Given the description of an element on the screen output the (x, y) to click on. 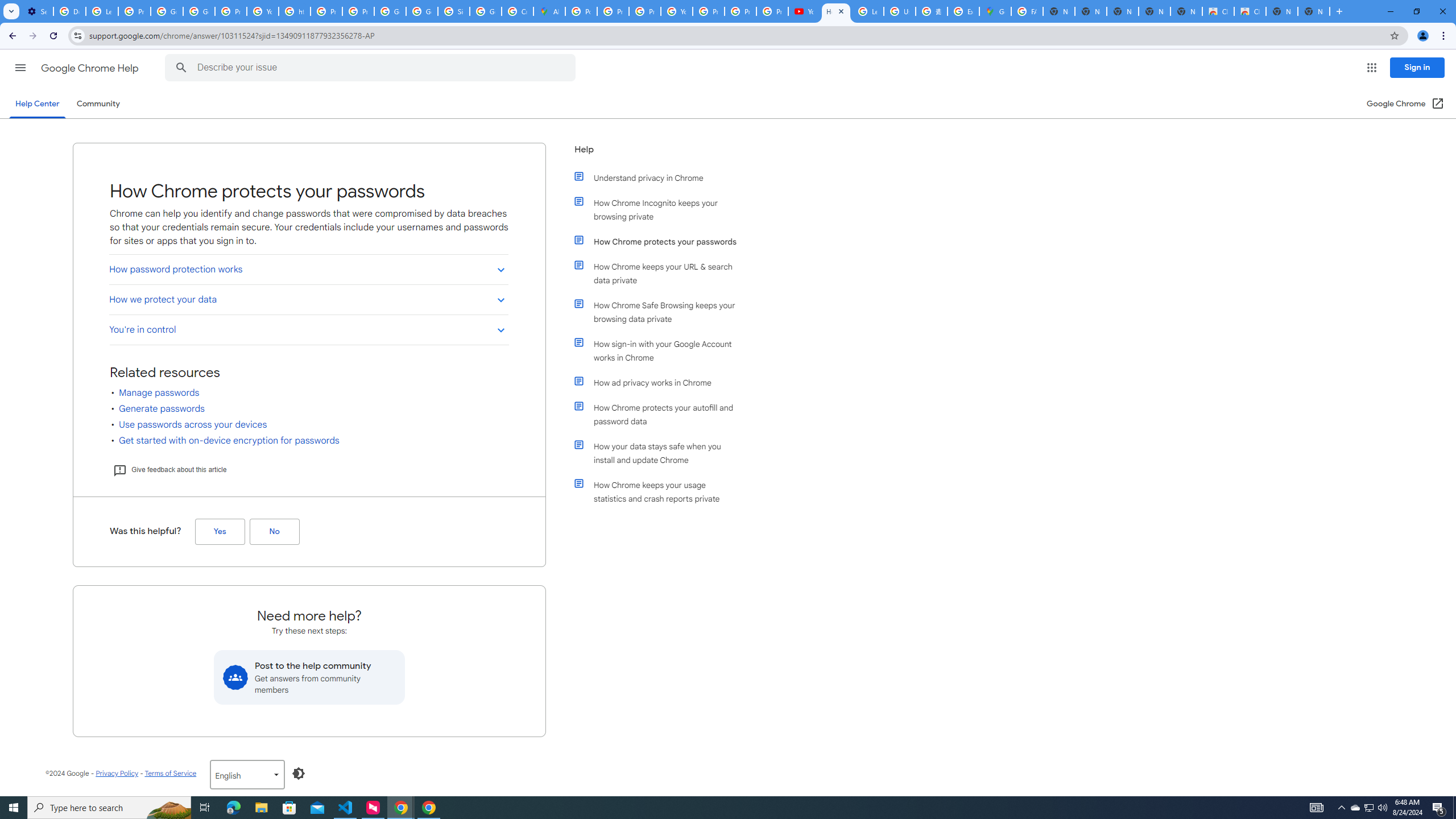
How Chrome protects your passwords (661, 241)
No (Was this helpful?) (273, 531)
How Chrome protects your autofill and password data (661, 414)
Classic Blue - Chrome Web Store (1249, 11)
Yes (Was this helpful?) (219, 531)
Google Account Help (166, 11)
Describe your issue (371, 67)
You're in control (308, 329)
